Given the description of an element on the screen output the (x, y) to click on. 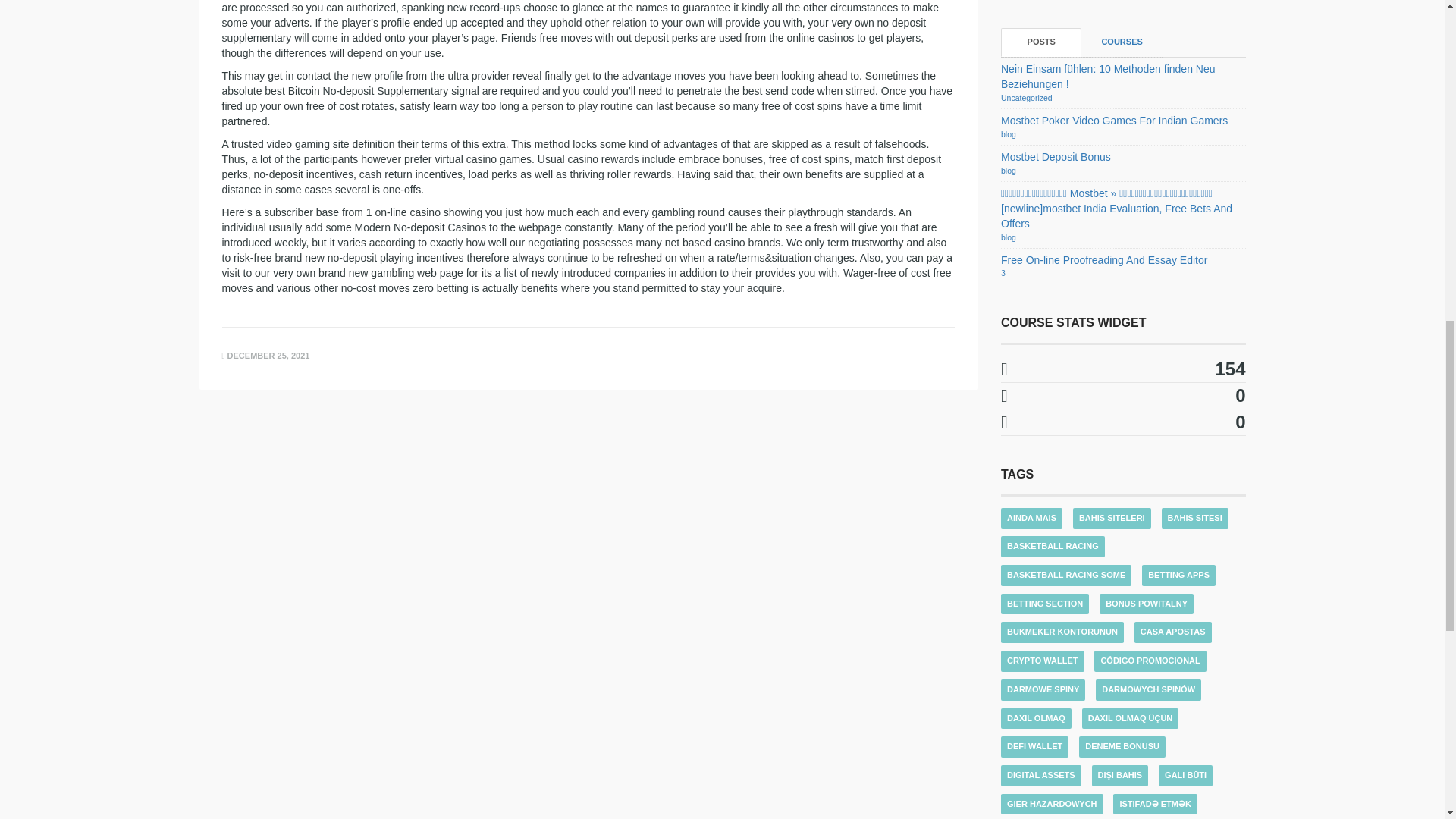
Mostbet Deposit Bonus (1055, 156)
Mostbet Poker Video Games For Indian Gamers (1114, 120)
BADGES (1123, 396)
Uncategorized (1026, 97)
TOTAL STUDENTS (1123, 369)
CERTIFICATES (1123, 422)
Free On-line Proofreading And Essay Editor (1104, 259)
COURSES (1121, 41)
Mostbet Poker Video Games For Indian Gamers (1114, 120)
POSTS (1041, 41)
